Given the description of an element on the screen output the (x, y) to click on. 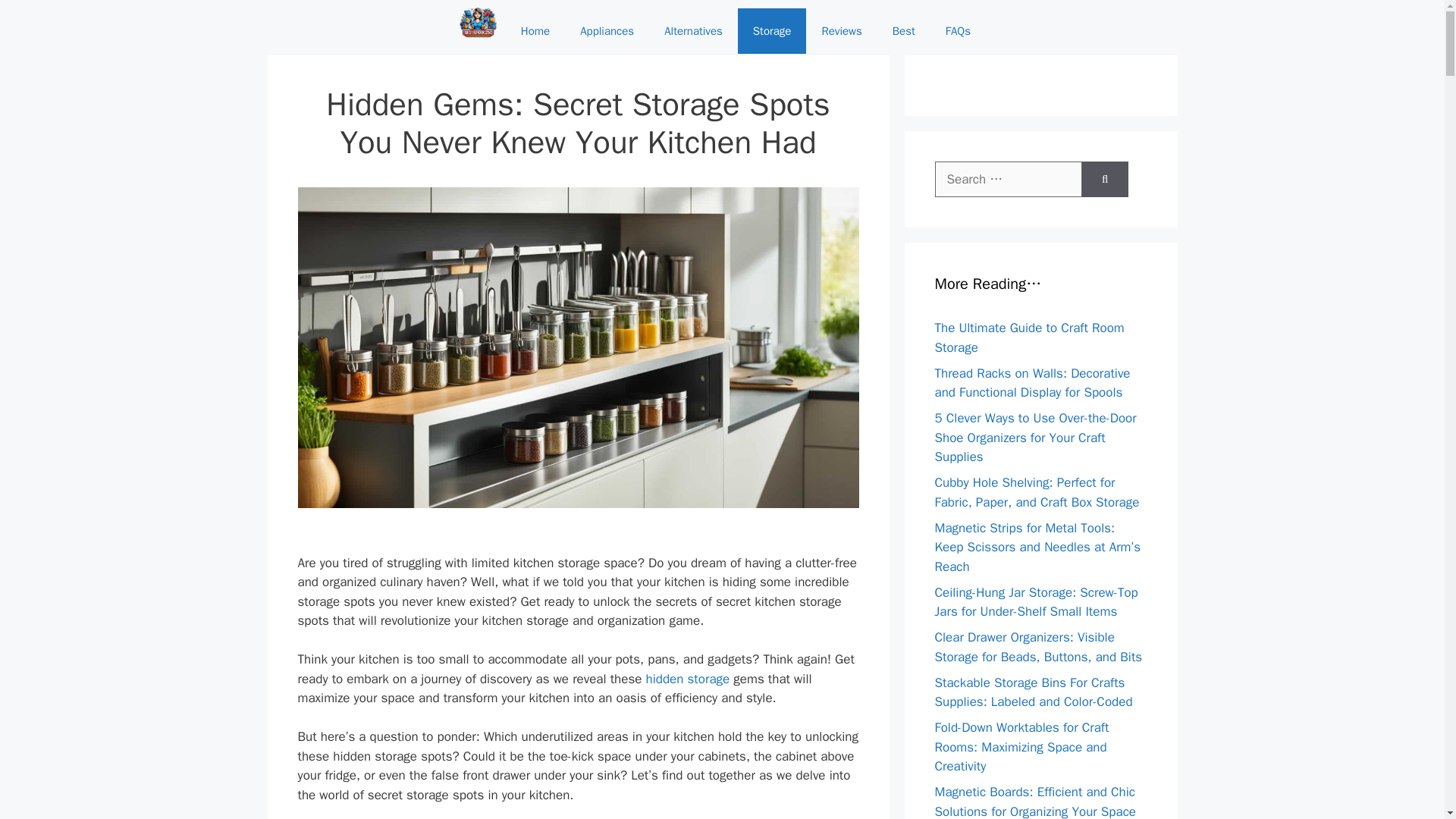
Home (534, 31)
Storage (772, 31)
Alternatives (693, 31)
Search for: (1007, 178)
